Given the description of an element on the screen output the (x, y) to click on. 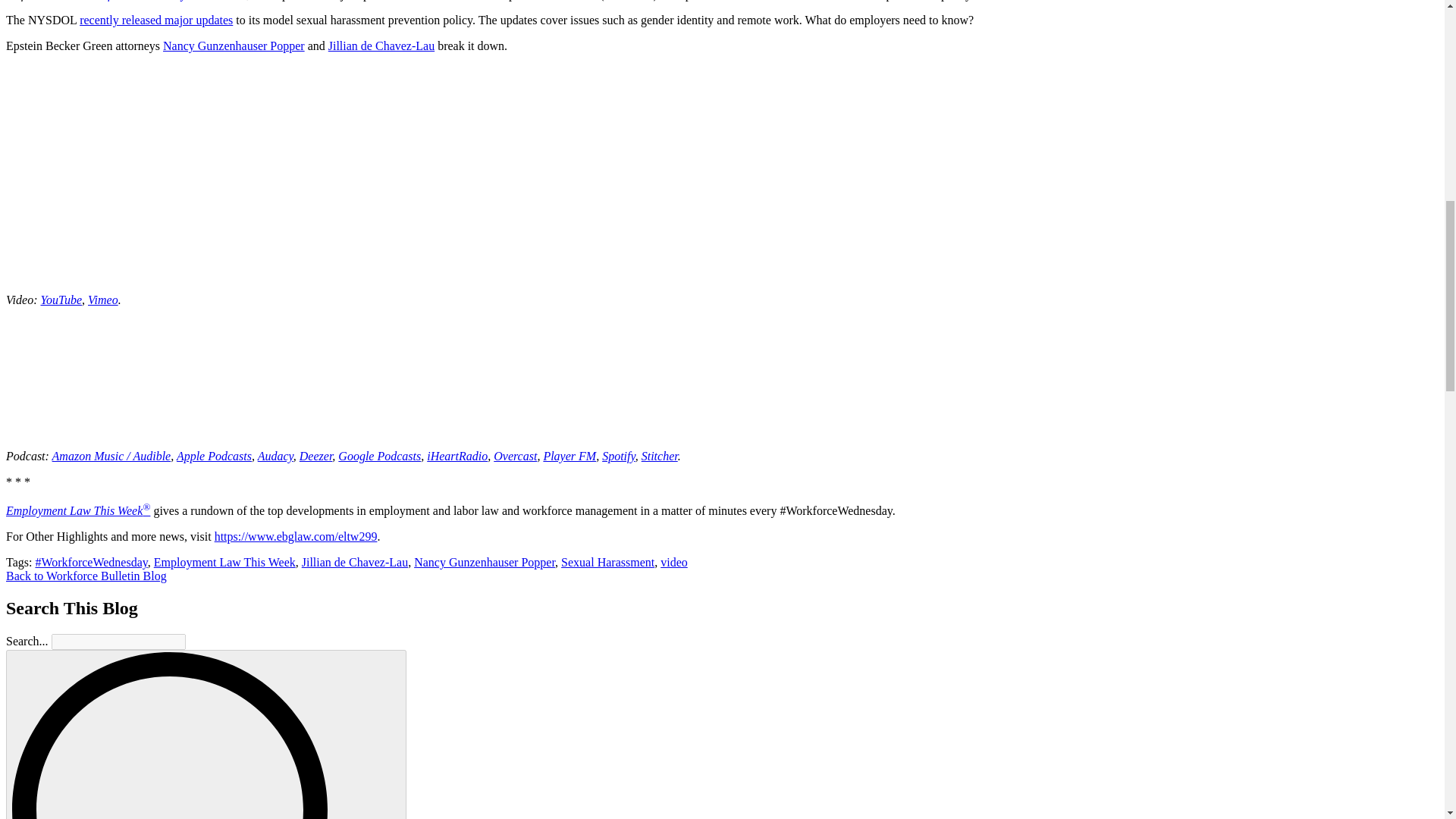
recently released major updates (156, 19)
Spotify (618, 455)
Employment Law This Week (224, 562)
Overcast (515, 455)
Player FM (569, 455)
YouTube (60, 299)
Apple Podcasts (213, 455)
Jillian de Chavez-Lau (354, 562)
Nancy Gunzenhauser Popper (483, 562)
iHeartRadio (456, 455)
Audacy (275, 455)
Sexual Harassment (606, 562)
Stitcher (660, 455)
Search (205, 735)
Jillian de Chavez-Lau (381, 45)
